Given the description of an element on the screen output the (x, y) to click on. 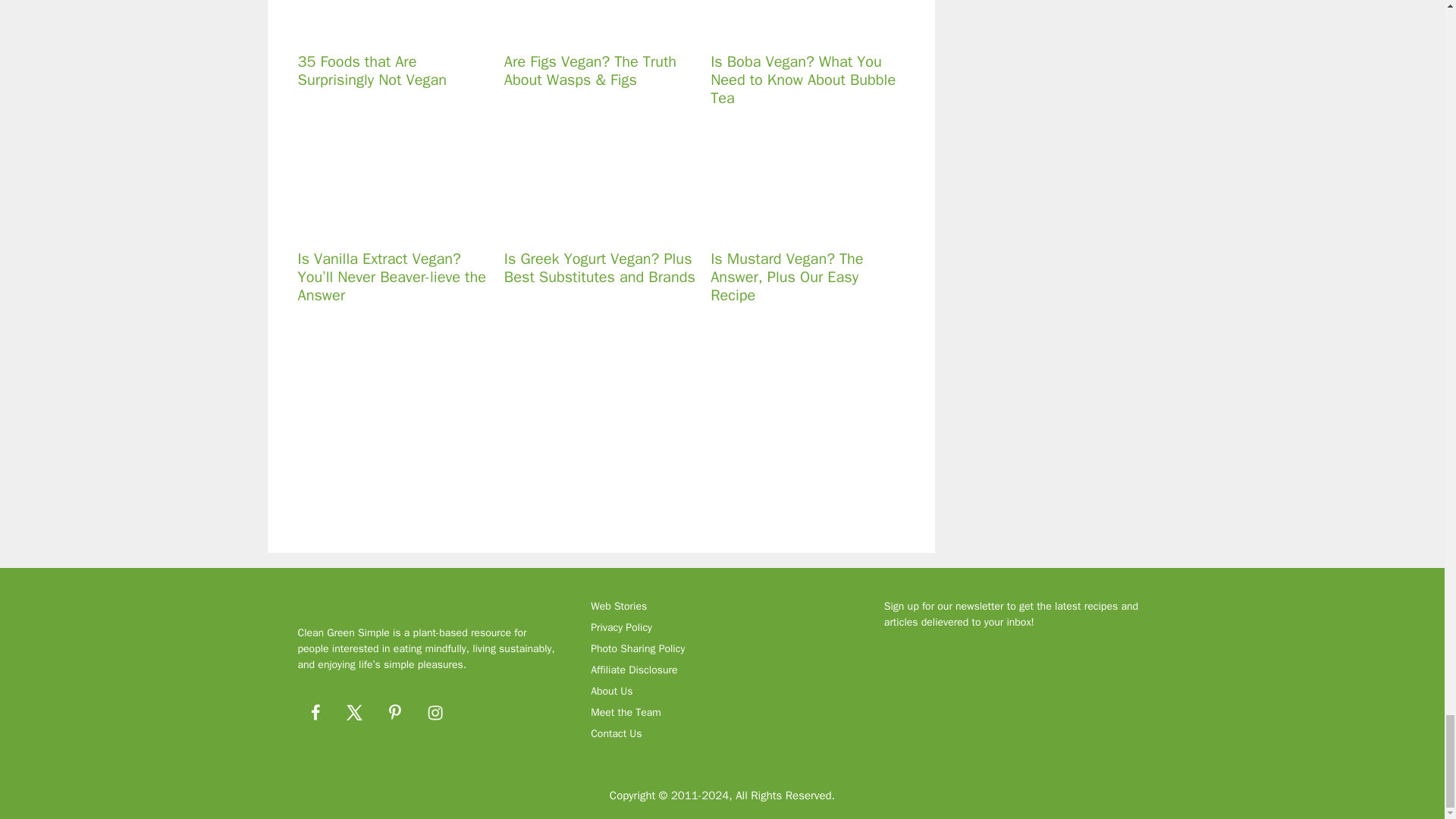
Is Boba Vegan? What You Need to Know About Bubble Tea (797, 30)
35 Foods that Are Surprisingly Not Vegan (384, 30)
Is Greek Yogurt Vegan? Plus Best Substitutes and Brands (590, 227)
Is Mustard Vegan? The Answer, Plus Our Easy Recipe (797, 227)
